Given the description of an element on the screen output the (x, y) to click on. 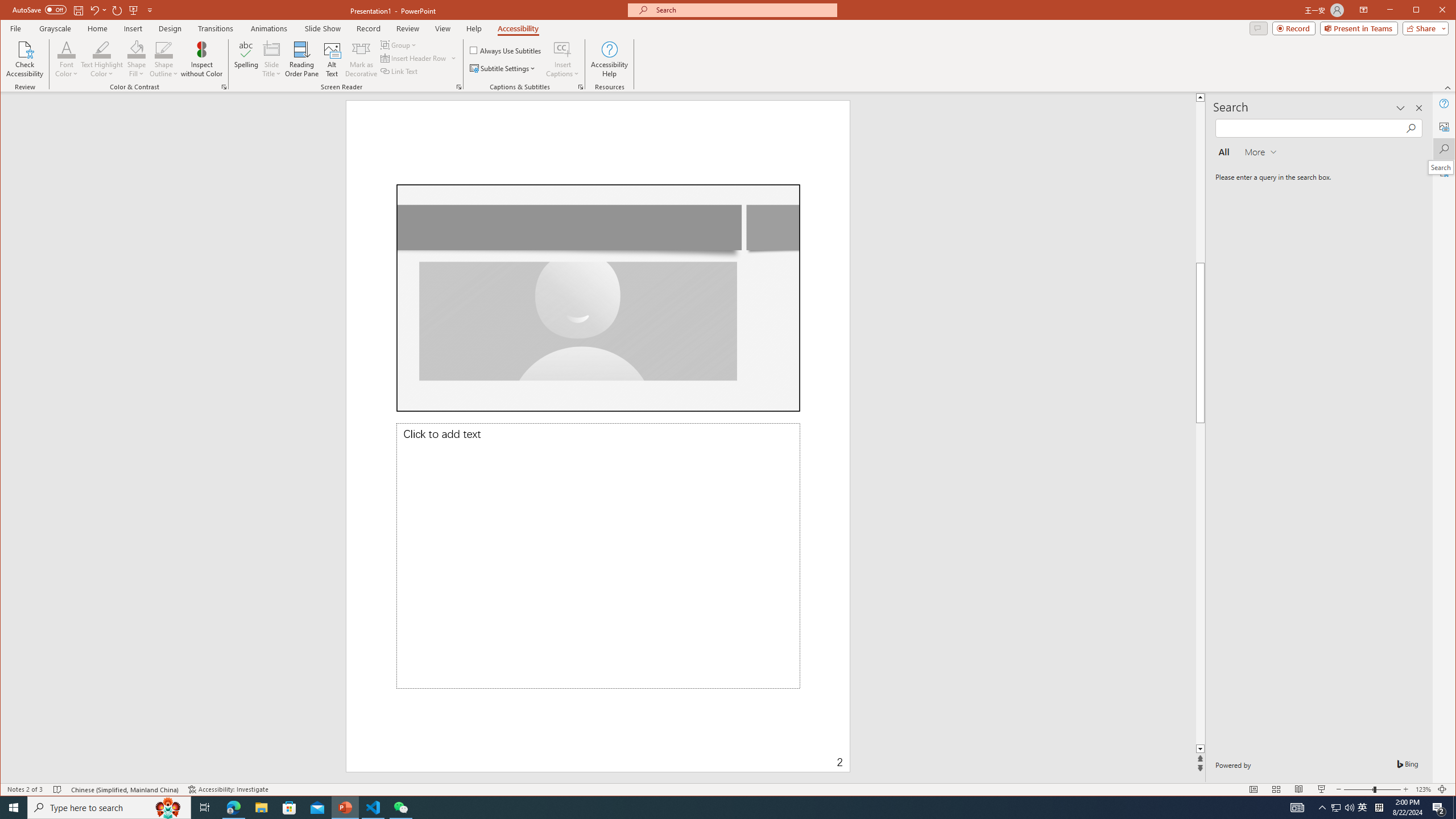
Page Number (740, 754)
Insert Captions (562, 48)
Running applications (707, 807)
Slide Title (271, 48)
